Given the description of an element on the screen output the (x, y) to click on. 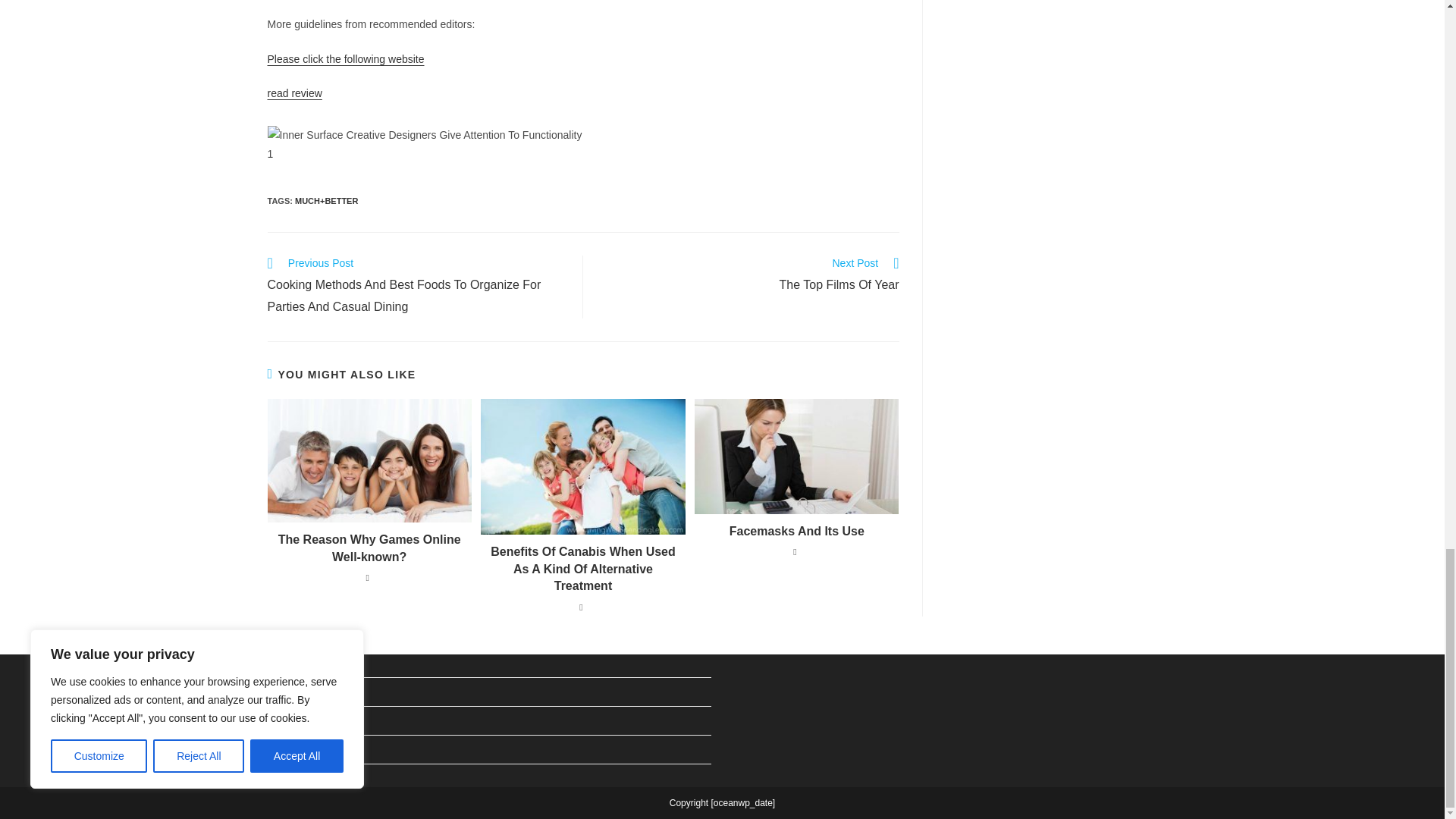
Please click the following website (344, 59)
read review (748, 275)
